Given the description of an element on the screen output the (x, y) to click on. 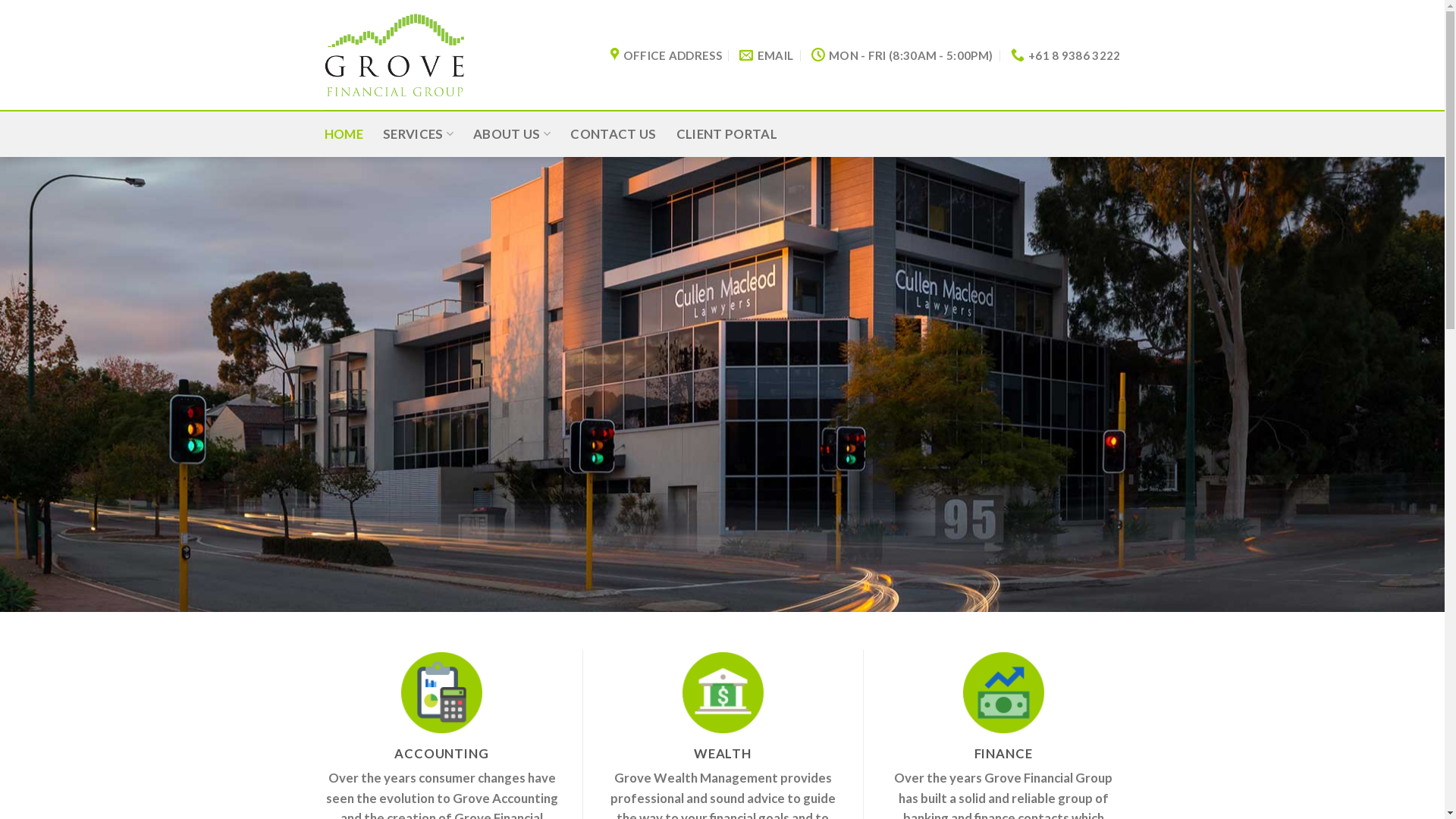
Grove Financial Group - Grove Financial Group Element type: hover (394, 54)
EMAIL Element type: text (766, 55)
SERVICES Element type: text (417, 133)
MON - FRI (8:30AM - 5:00PM) Element type: text (901, 55)
CONTACT US Element type: text (612, 133)
OFFICE ADDRESS Element type: text (665, 55)
CLIENT PORTAL Element type: text (726, 133)
ABOUT US Element type: text (511, 133)
+61 8 9386 3222 Element type: text (1065, 55)
HOME Element type: text (343, 133)
